Given the description of an element on the screen output the (x, y) to click on. 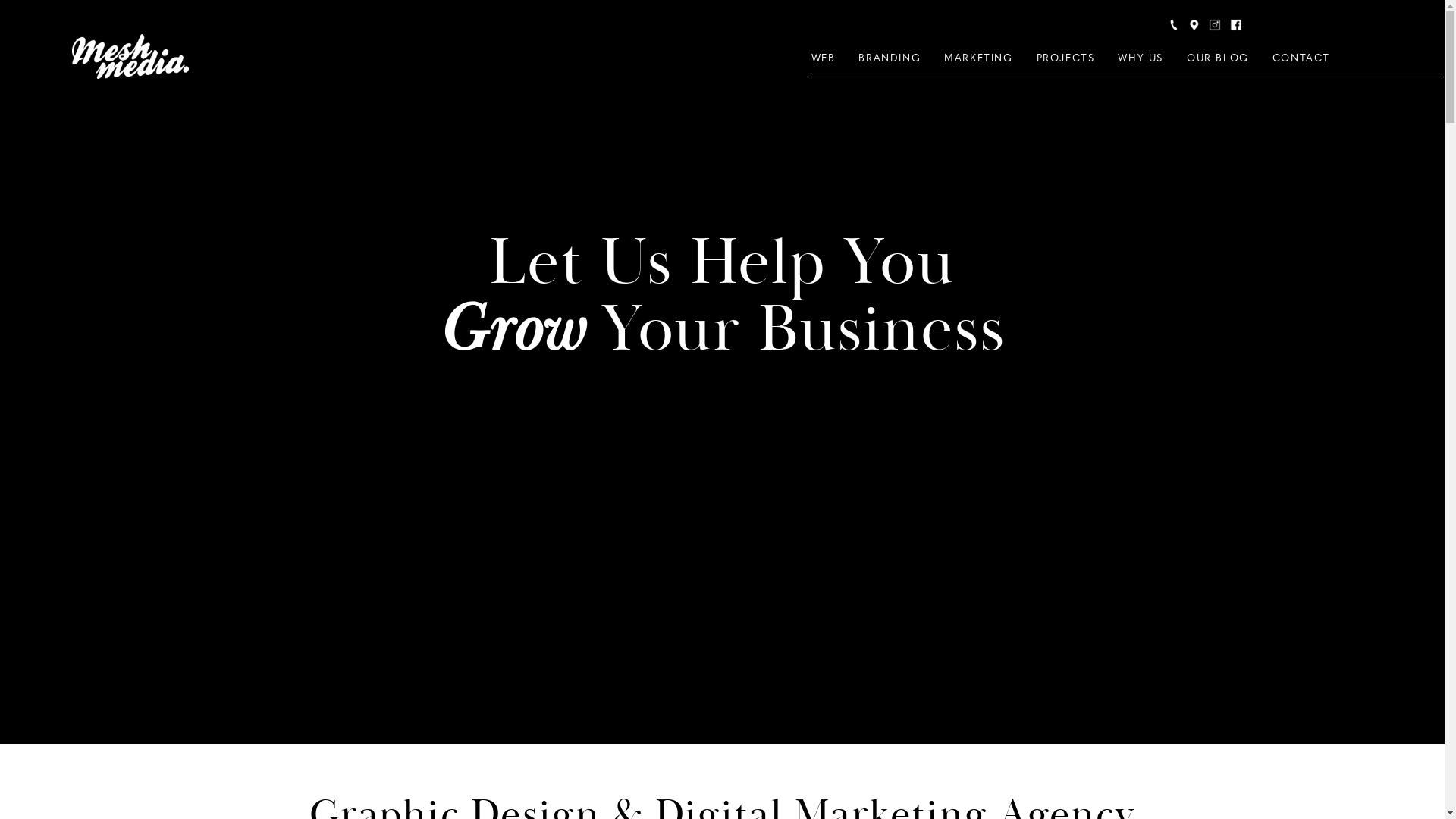
PROJECTS Element type: text (1065, 58)
MARKETING Element type: text (978, 58)
BRANDING Element type: text (889, 58)
CONTACT Element type: text (1301, 58)
WHY US Element type: text (1140, 58)
WEB Element type: text (823, 58)
OUR BLOG Element type: text (1217, 58)
